Given the description of an element on the screen output the (x, y) to click on. 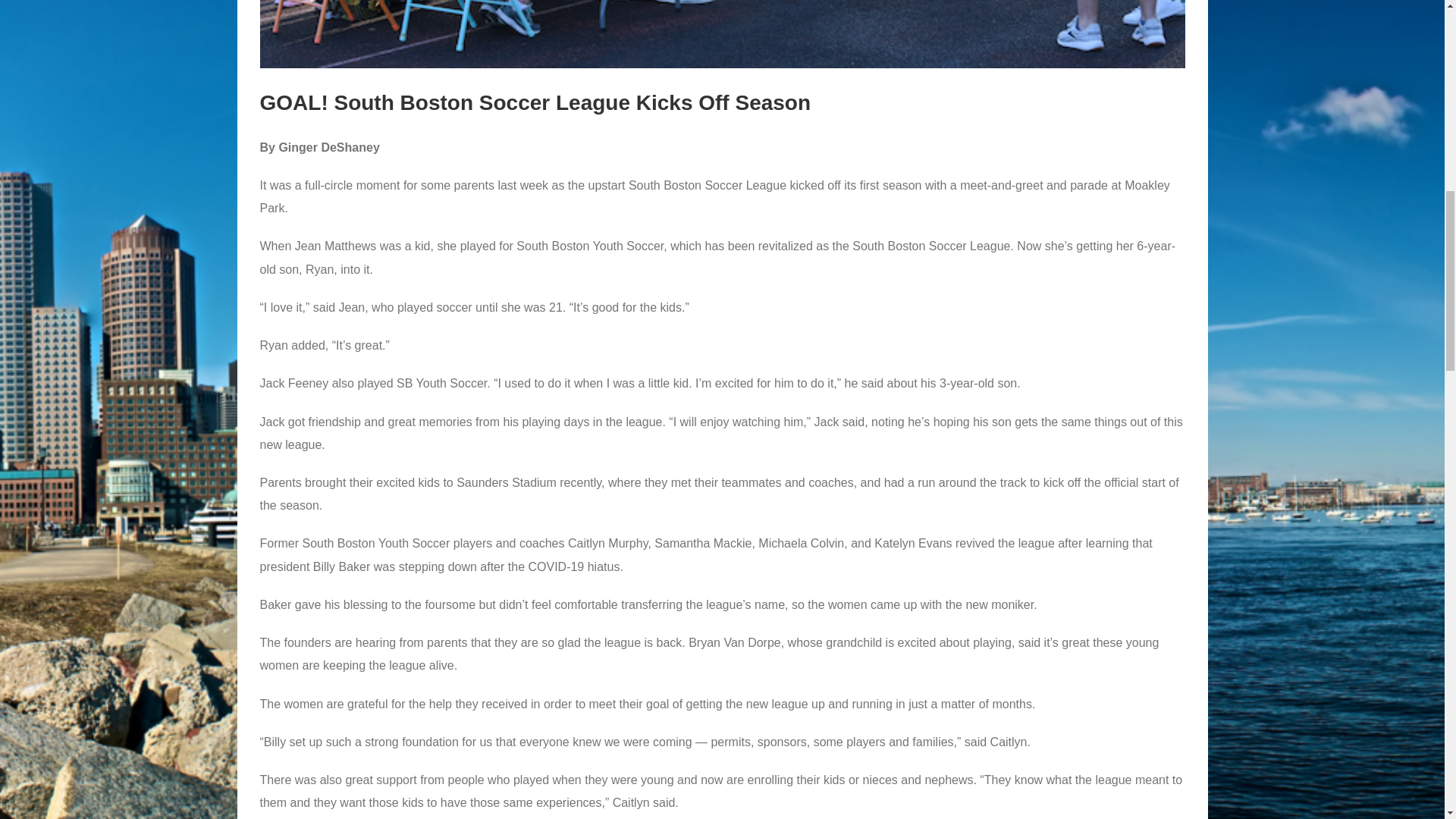
View Larger Image (722, 33)
